Given the description of an element on the screen output the (x, y) to click on. 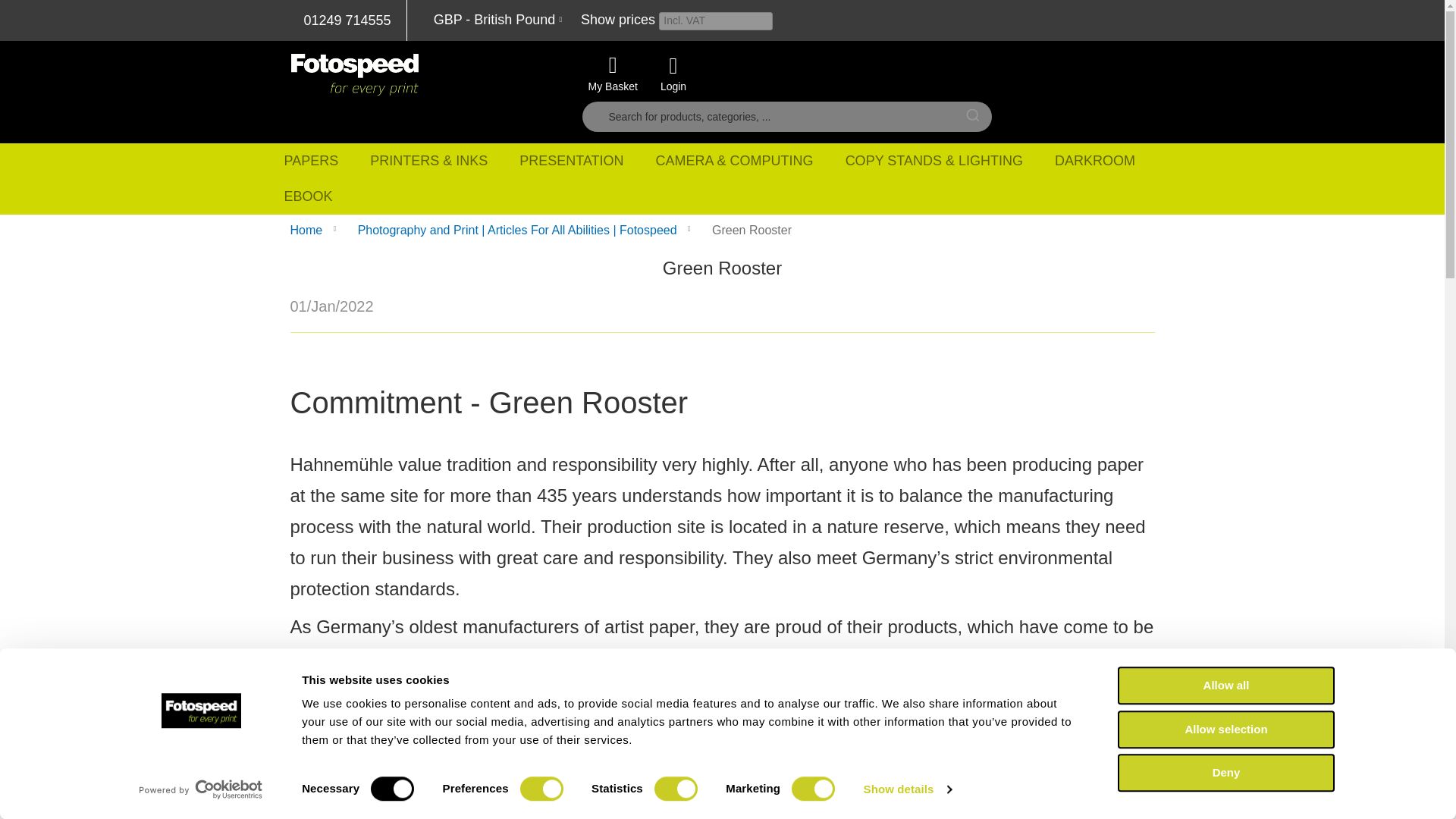
Show details (907, 789)
